Given the description of an element on the screen output the (x, y) to click on. 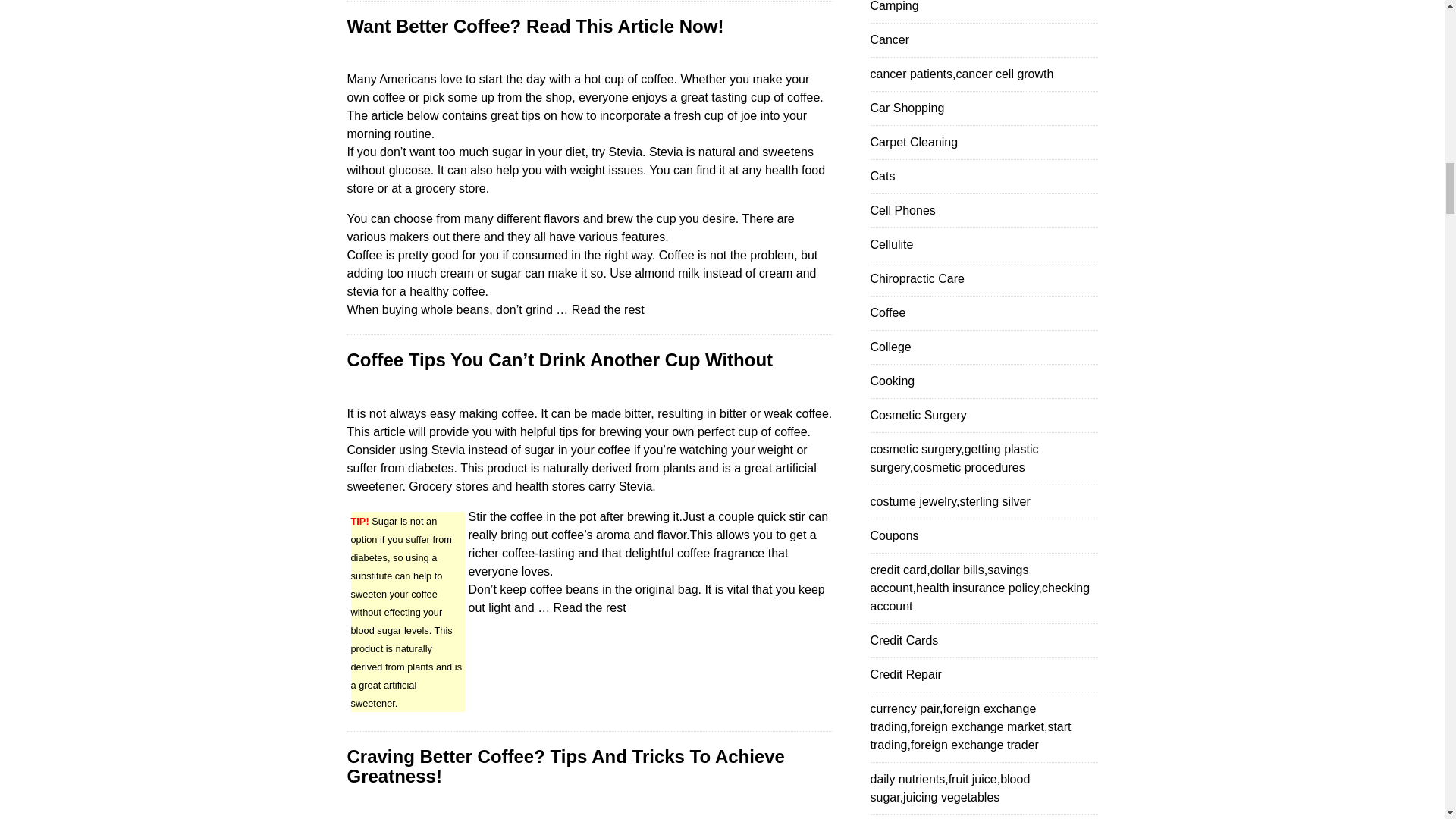
Craving Better Coffee? Tips And Tricks To Achieve Greatness! (565, 766)
Want Better Coffee? Read This Article Now! (535, 25)
Read the rest (608, 309)
Read the rest (589, 607)
